Given the description of an element on the screen output the (x, y) to click on. 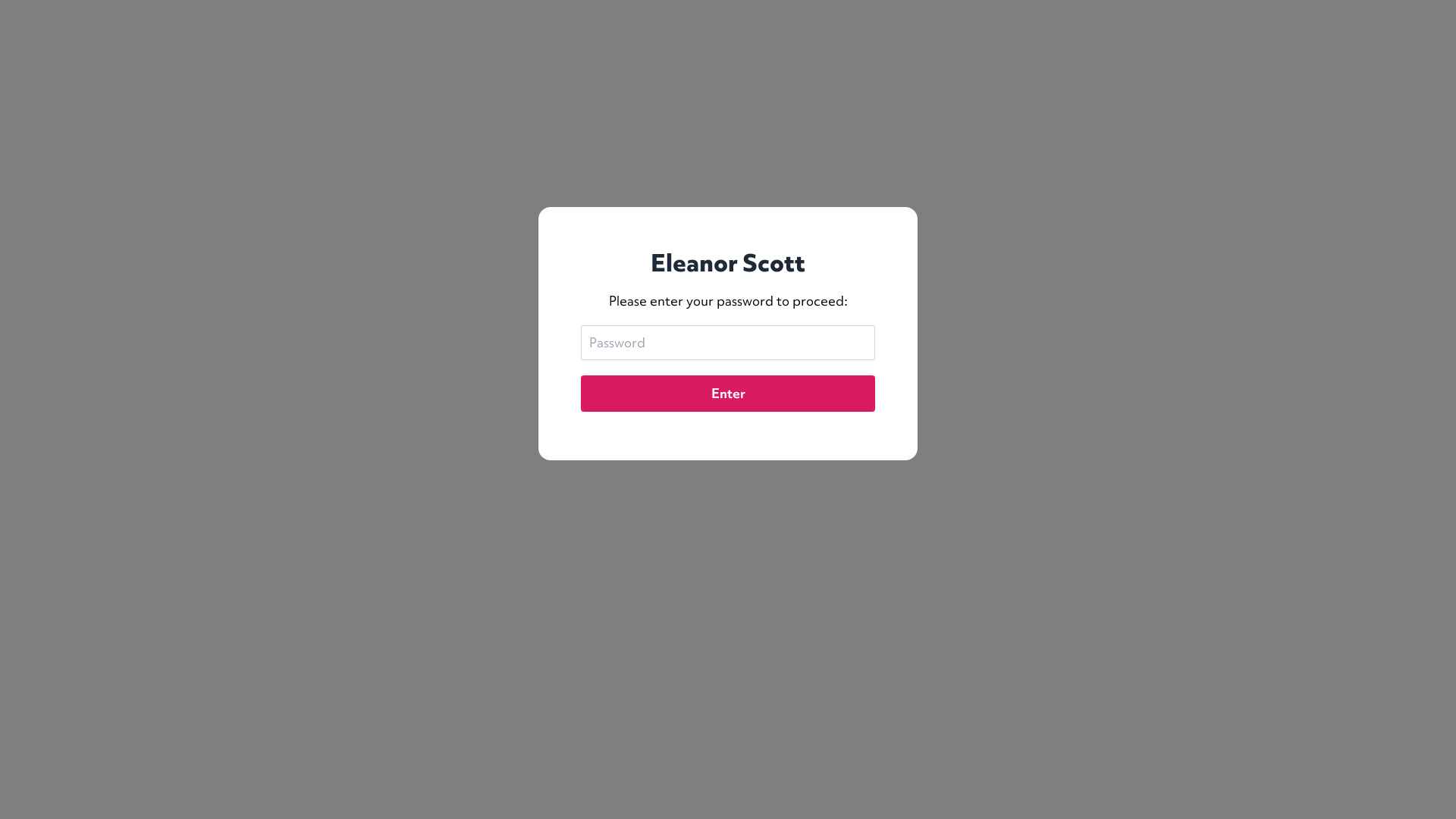
Enter Element type: text (727, 393)
